Given the description of an element on the screen output the (x, y) to click on. 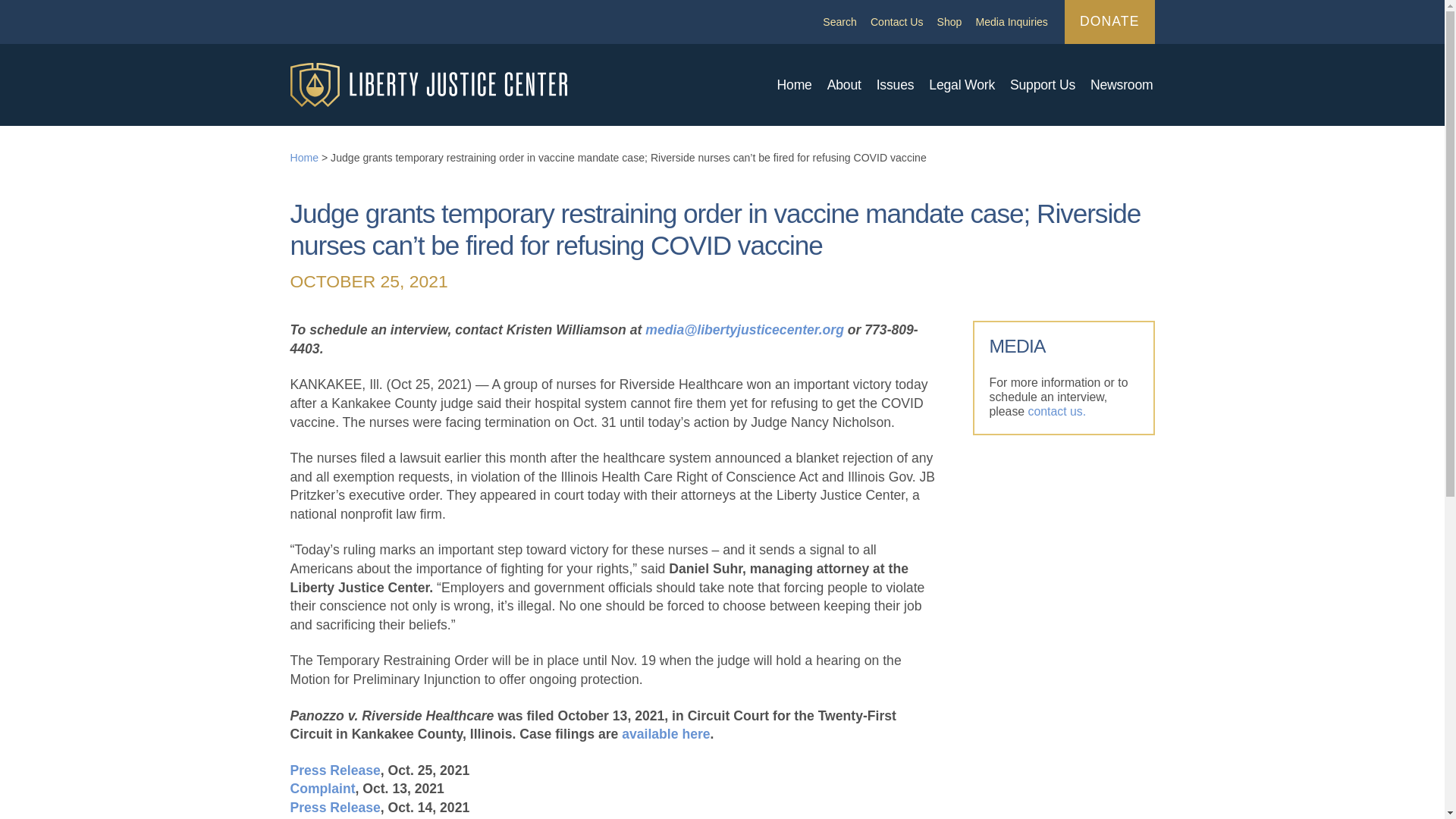
About (844, 84)
DONATE (1109, 22)
Issues (895, 84)
Contact Us (896, 21)
Media Inquiries (1011, 21)
Search (840, 21)
Shop (949, 21)
Newsroom (1121, 84)
Support Us (1043, 84)
Legal Work (961, 84)
